Given the description of an element on the screen output the (x, y) to click on. 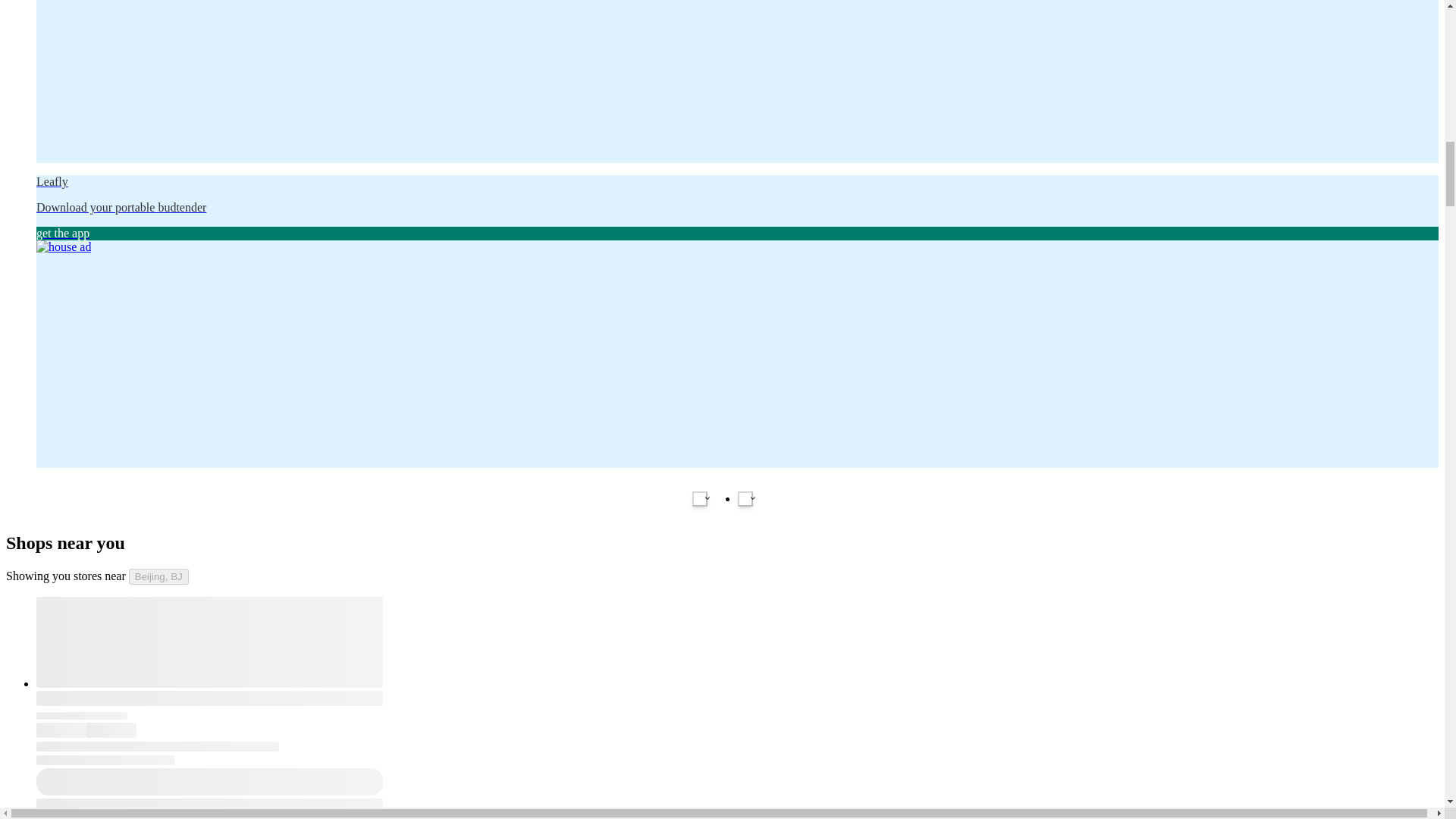
Loading... (209, 641)
Loading... (60, 729)
Loading... (110, 729)
Loading... (209, 697)
Loading... (82, 715)
